Given the description of an element on the screen output the (x, y) to click on. 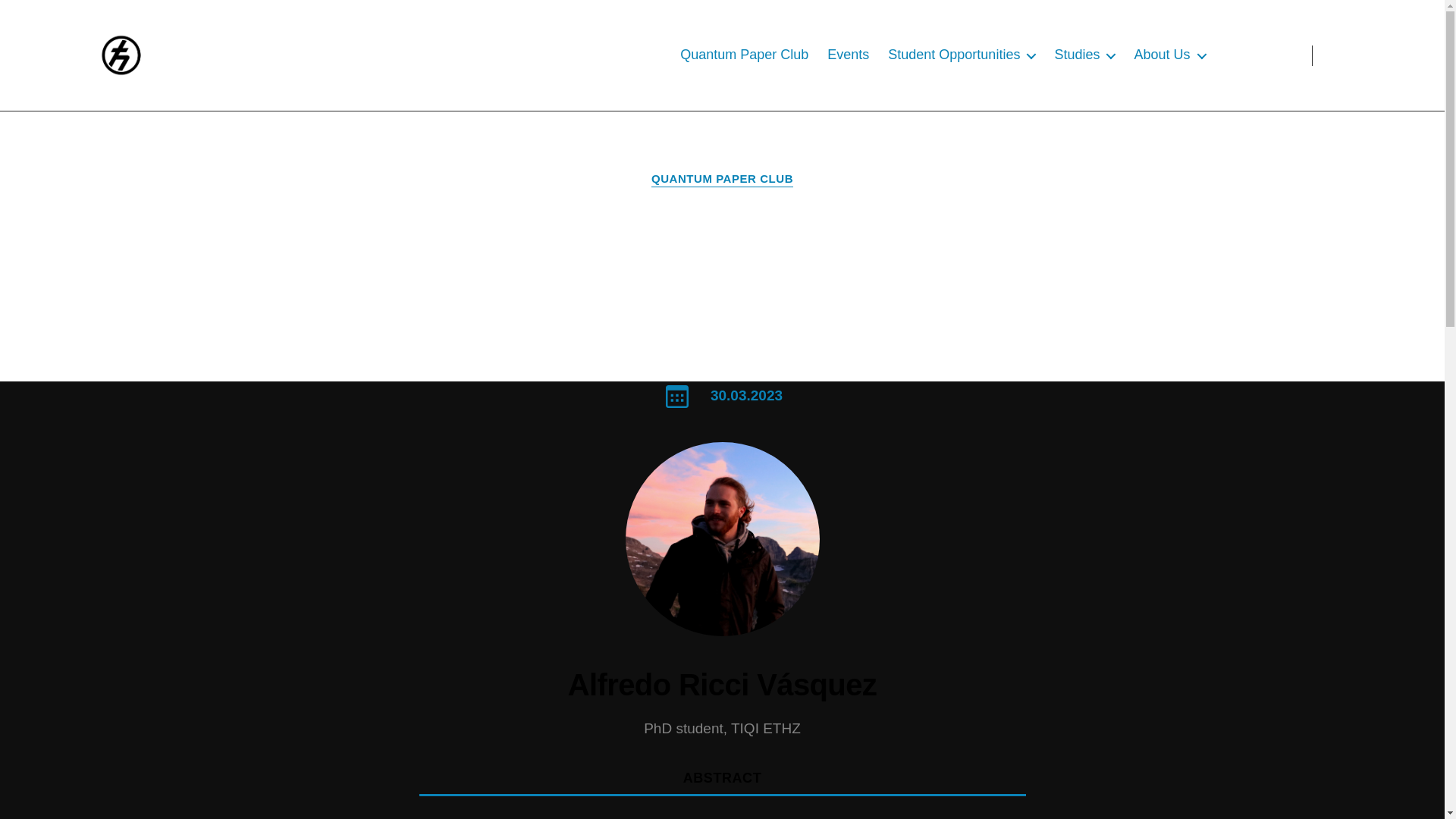
Instagram (1235, 55)
Student Opportunities (961, 54)
QUANTUM PAPER CLUB (721, 179)
Events (848, 54)
LinkedIn (1270, 55)
Studies (1084, 54)
Search (1350, 55)
About Us (1169, 54)
Quantum Paper Club (743, 54)
